Given the description of an element on the screen output the (x, y) to click on. 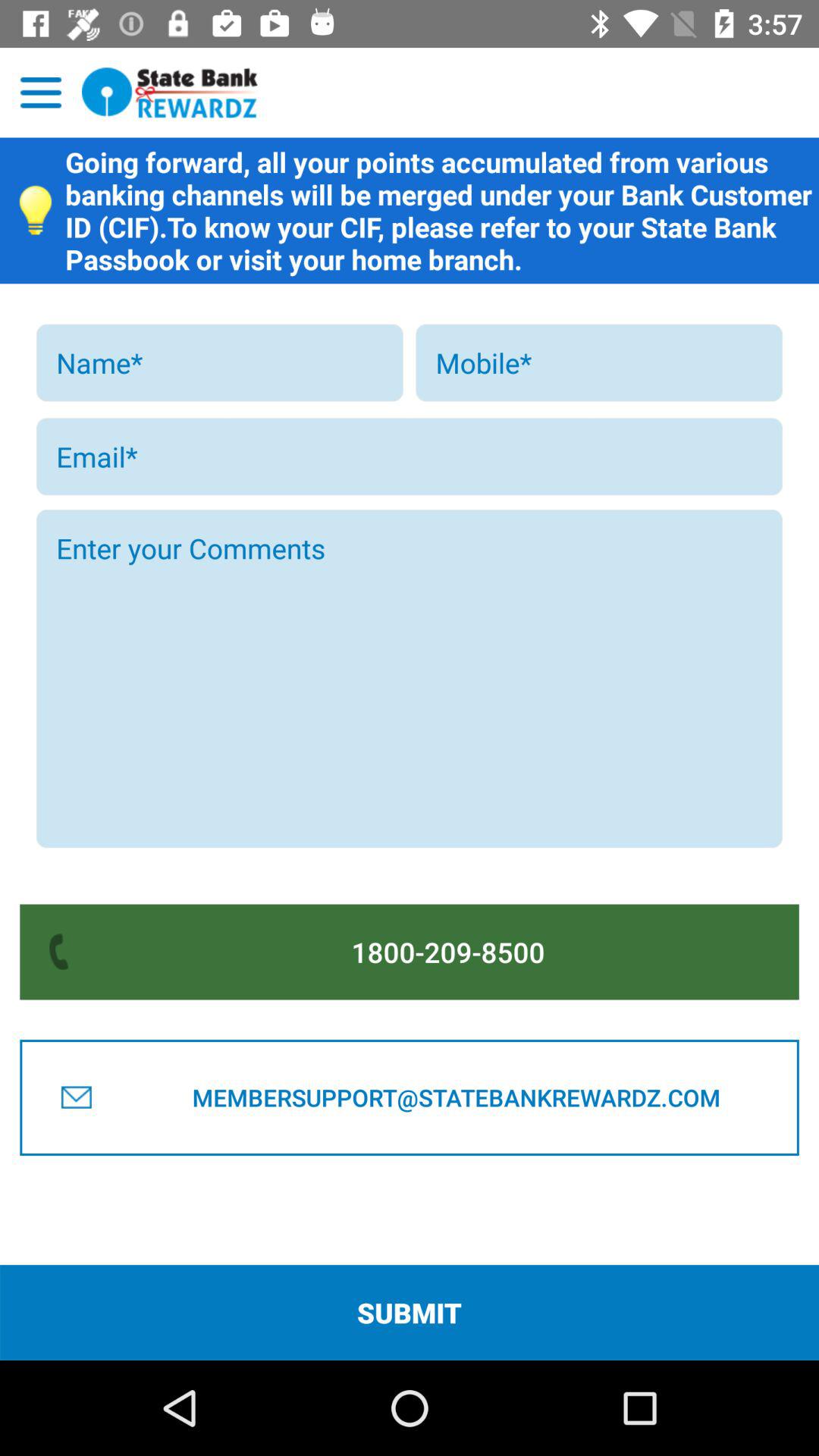
enter comments (409, 678)
